Given the description of an element on the screen output the (x, y) to click on. 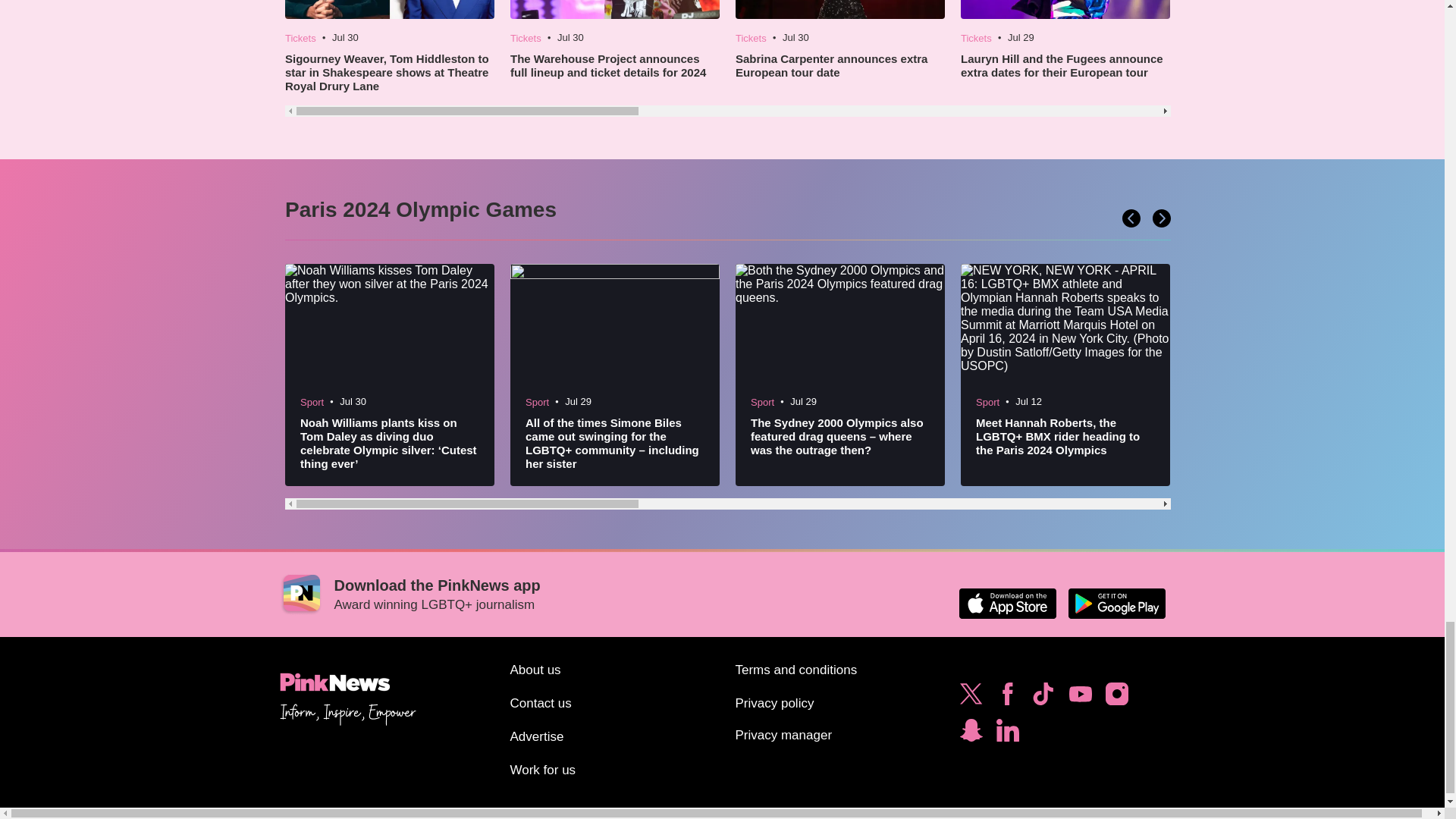
Follow PinkNews on Twitter (970, 697)
Subscribe to PinkNews on YouTube (1079, 697)
Download the PinkNews app on Google Play (1115, 603)
Download the PinkNews app on the Apple App Store (1006, 603)
Follow PinkNews on TikTok (1042, 697)
Subscribe to PinkNews on Snapchat (970, 733)
Follow PinkNews on Instagram (1116, 697)
Follow PinkNews on LinkedIn (1007, 733)
